Given the description of an element on the screen output the (x, y) to click on. 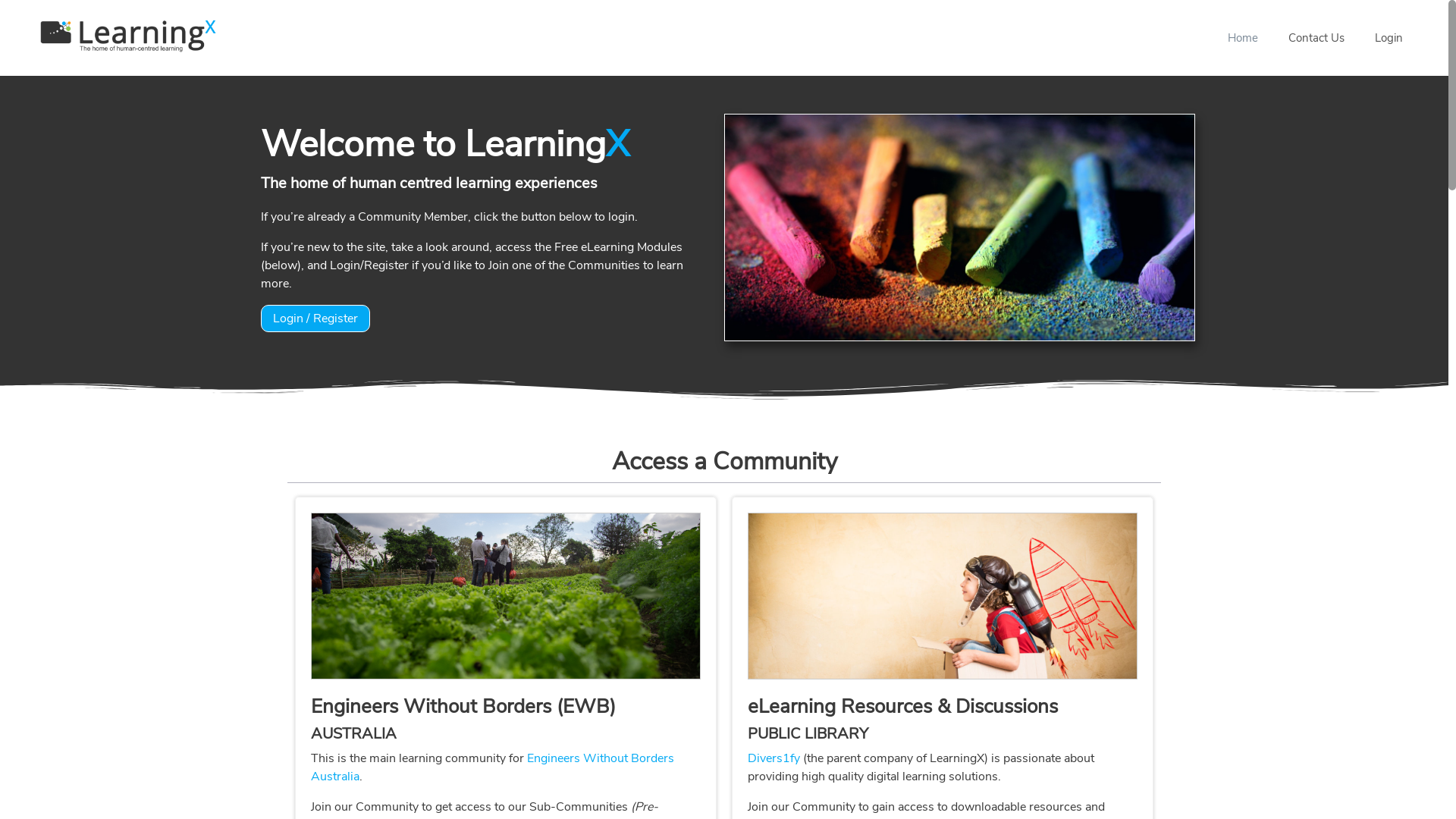
Divers1fy Element type: text (773, 757)
Login / Register Element type: text (315, 318)
Contact Us Element type: text (1316, 37)
Home Element type: text (1242, 37)
Engineers Without Borders Australia Element type: text (492, 766)
Login Element type: text (1388, 37)
